Given the description of an element on the screen output the (x, y) to click on. 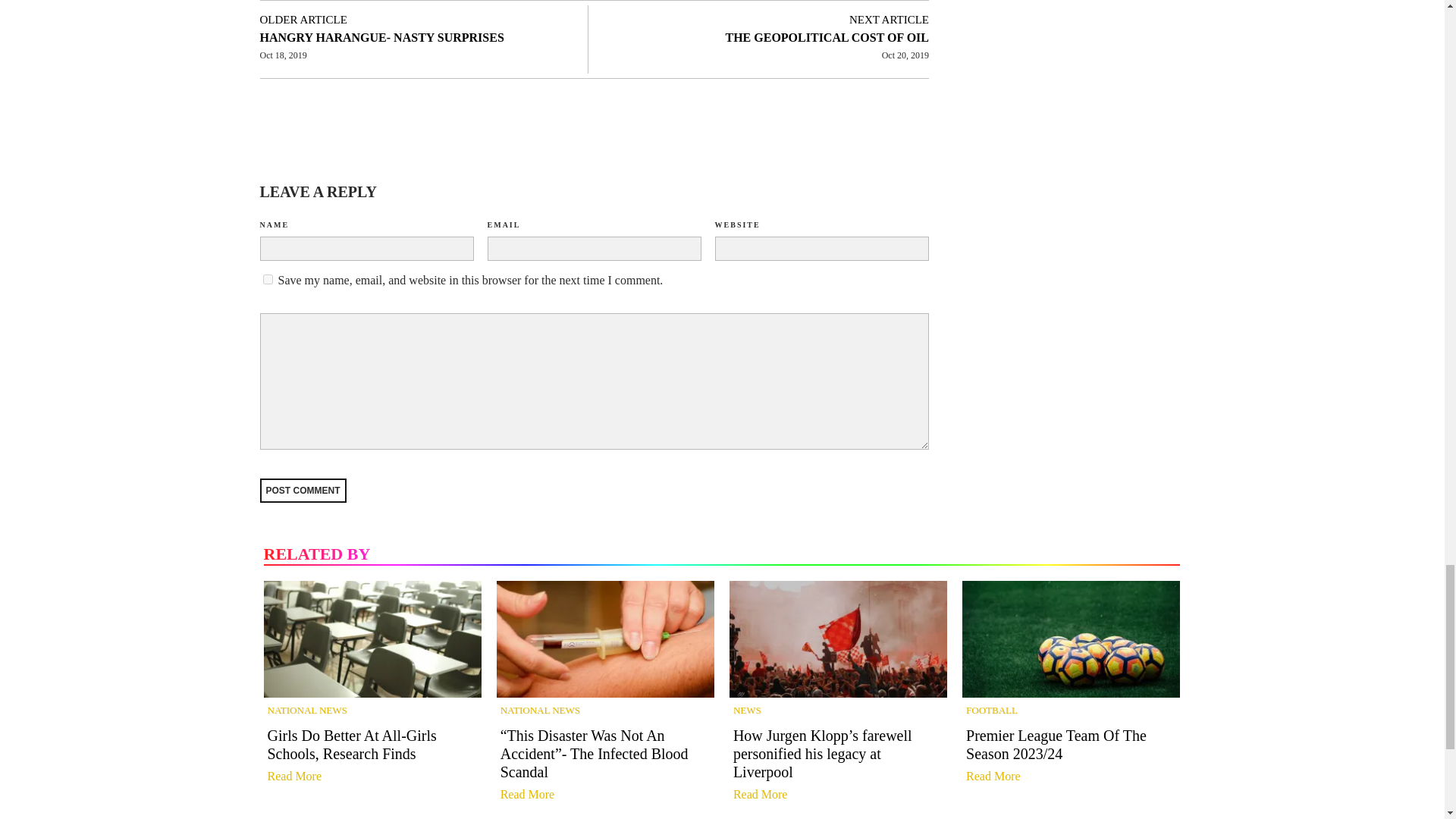
Post comment (302, 490)
yes (267, 279)
